Given the description of an element on the screen output the (x, y) to click on. 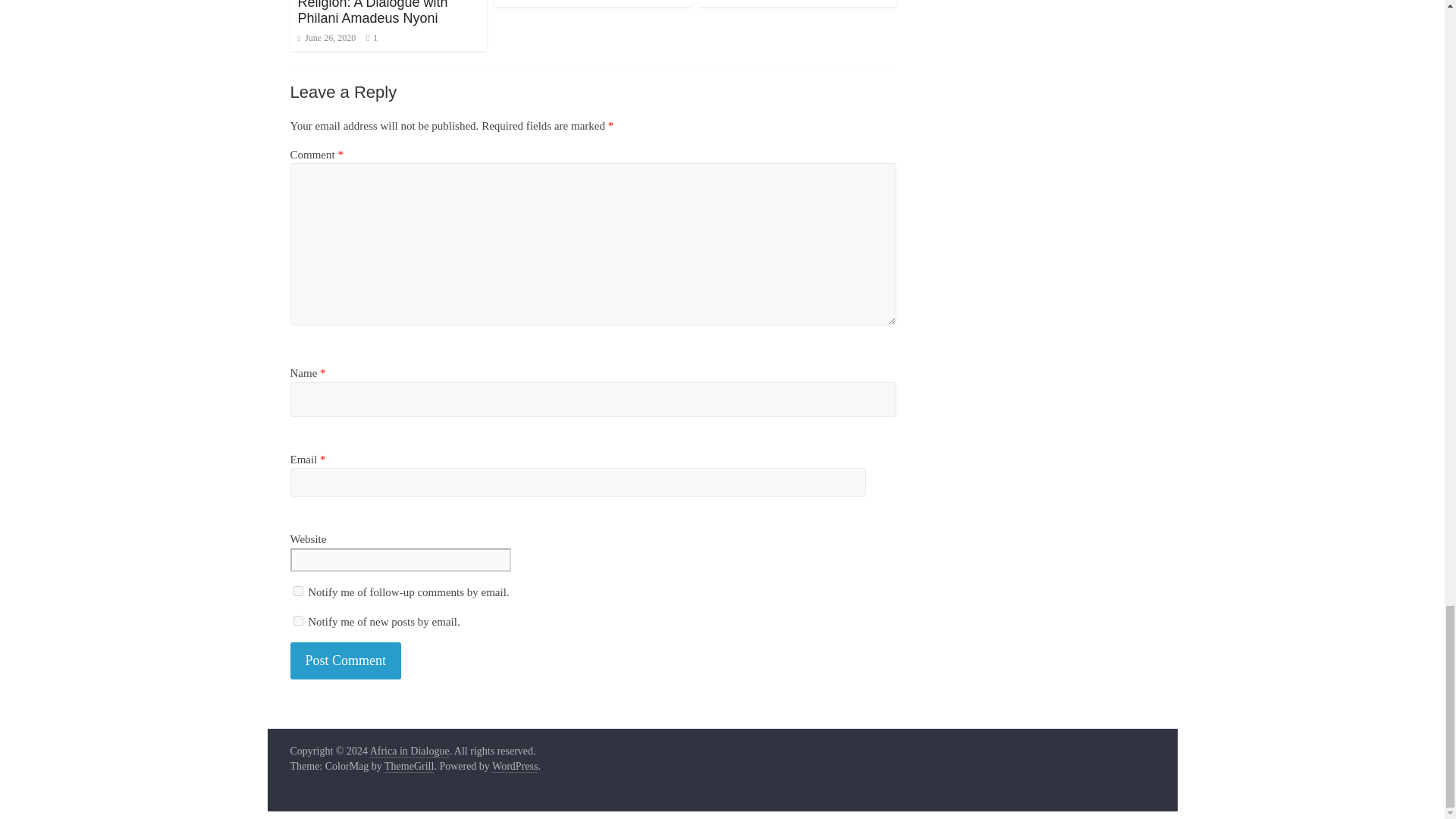
subscribe (297, 591)
8:00 am (326, 37)
subscribe (297, 620)
Post Comment (345, 660)
